Given the description of an element on the screen output the (x, y) to click on. 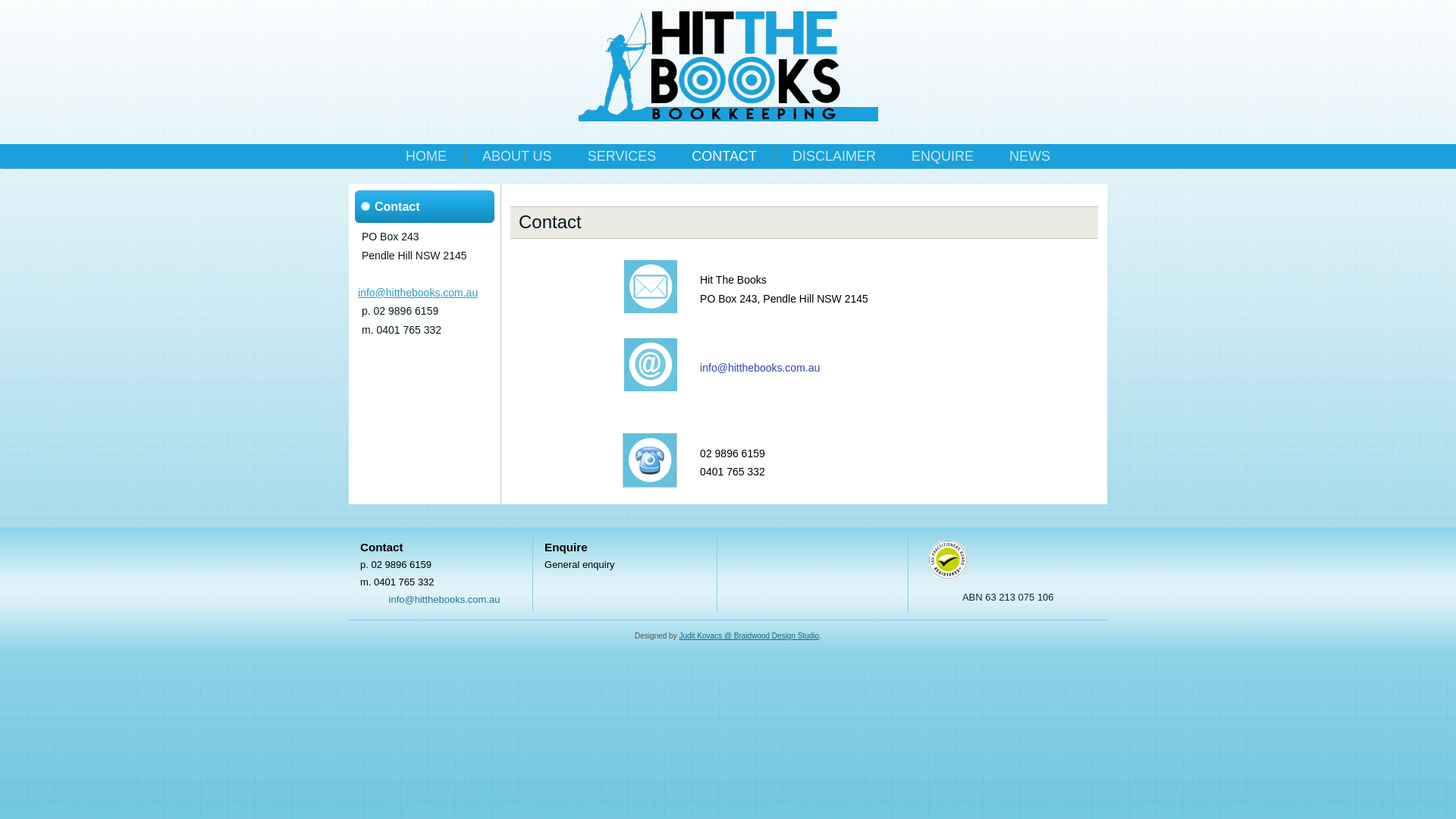
General enquiry Element type: text (579, 564)
ABOUT US Element type: text (516, 156)
SERVICES Element type: text (622, 156)
NEWS Element type: text (1029, 156)
info@hitthebooks.com.au Element type: text (417, 292)
Judit Kovacs @ Braidwood Design Studio Element type: text (748, 635)
HOME Element type: text (426, 156)
CONTACT Element type: text (723, 156)
info@hitthebooks.com.au Element type: text (444, 599)
info@hitthebooks.com.au Element type: text (759, 367)
DISCLAIMER Element type: text (833, 156)
ENQUIRE Element type: text (942, 156)
